Given the description of an element on the screen output the (x, y) to click on. 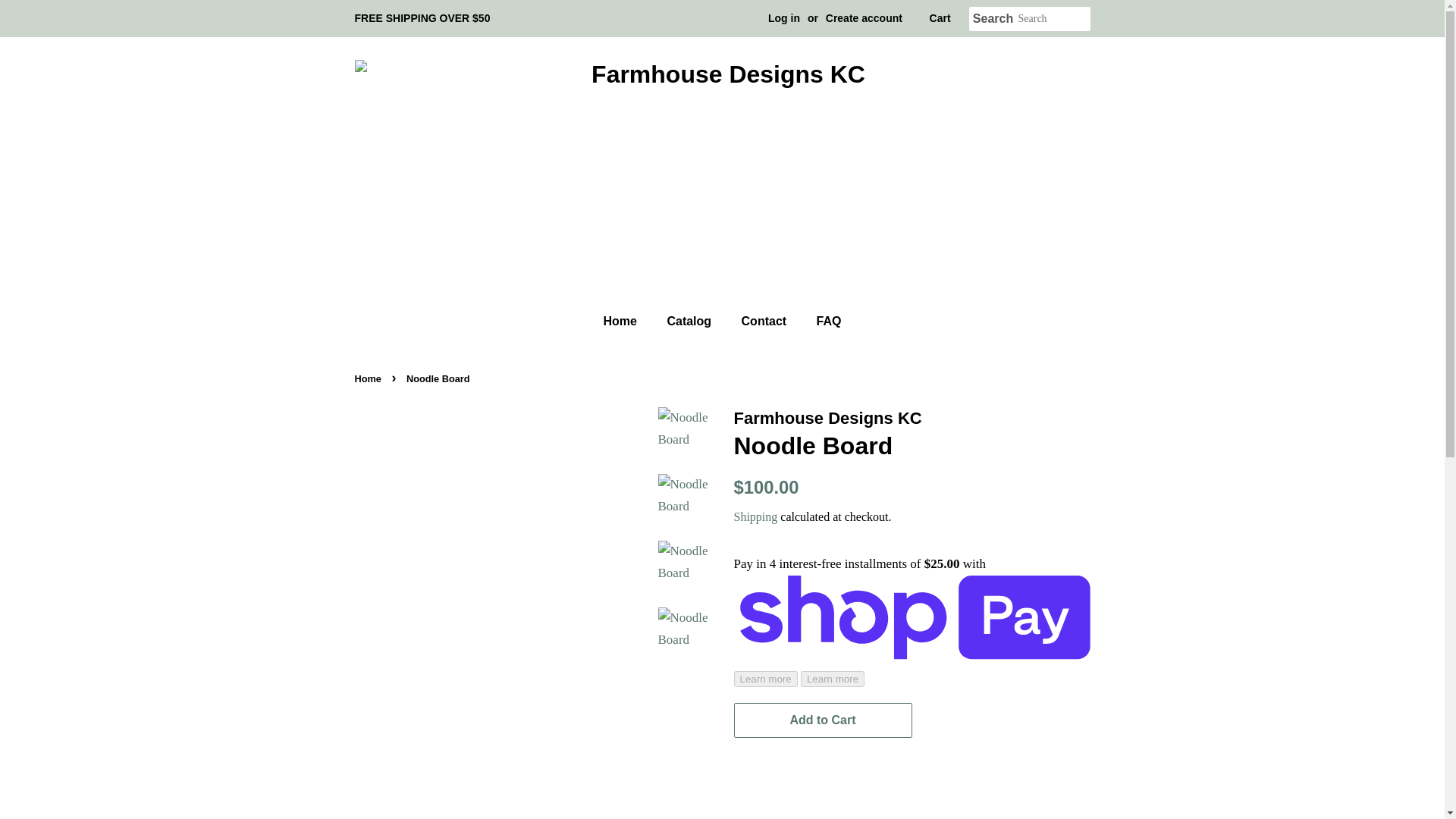
Back to the frontpage (370, 378)
Create account (863, 18)
Log in (783, 18)
Cart (940, 18)
Search (993, 18)
